Given the description of an element on the screen output the (x, y) to click on. 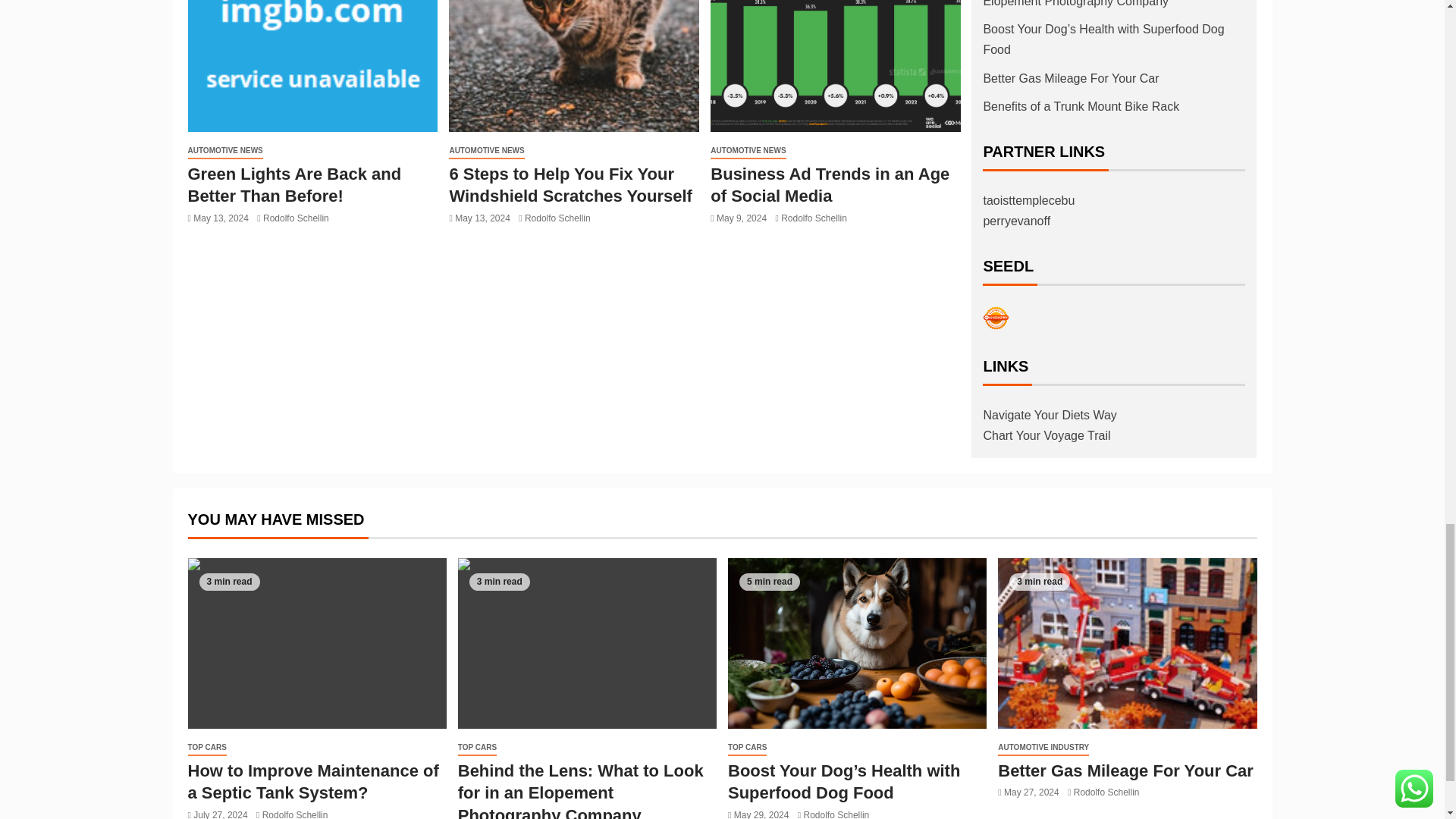
Business Ad Trends in an Age of Social Media (835, 65)
Green Lights Are Back and Better Than Before! (312, 65)
6 Steps to Help You Fix Your Windshield Scratches Yourself (573, 65)
